Given the description of an element on the screen output the (x, y) to click on. 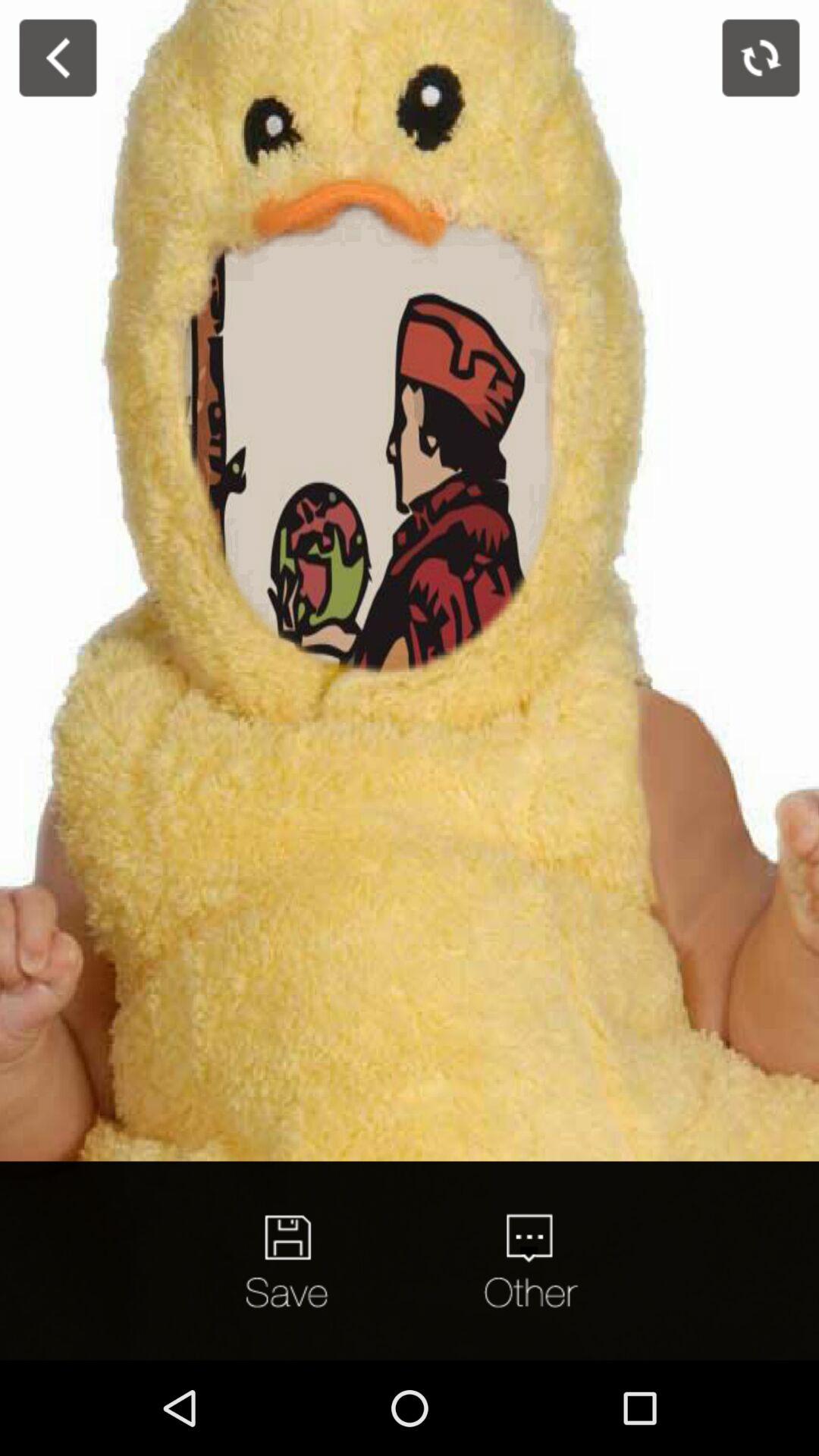
refresh (760, 57)
